Given the description of an element on the screen output the (x, y) to click on. 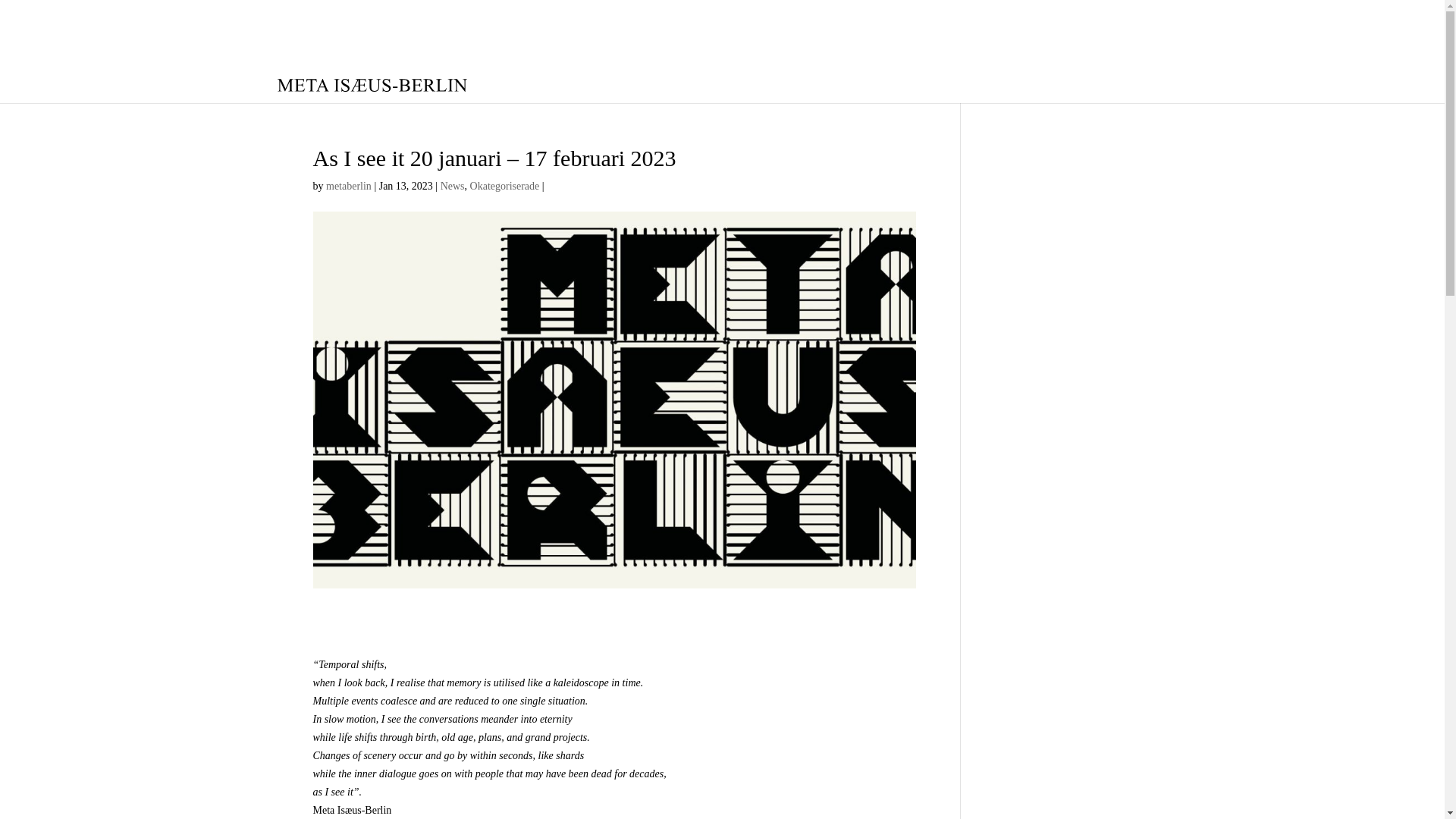
News (452, 185)
metaberlin (348, 185)
Posts by metaberlin (348, 185)
Okategoriserade (505, 185)
